Given the description of an element on the screen output the (x, y) to click on. 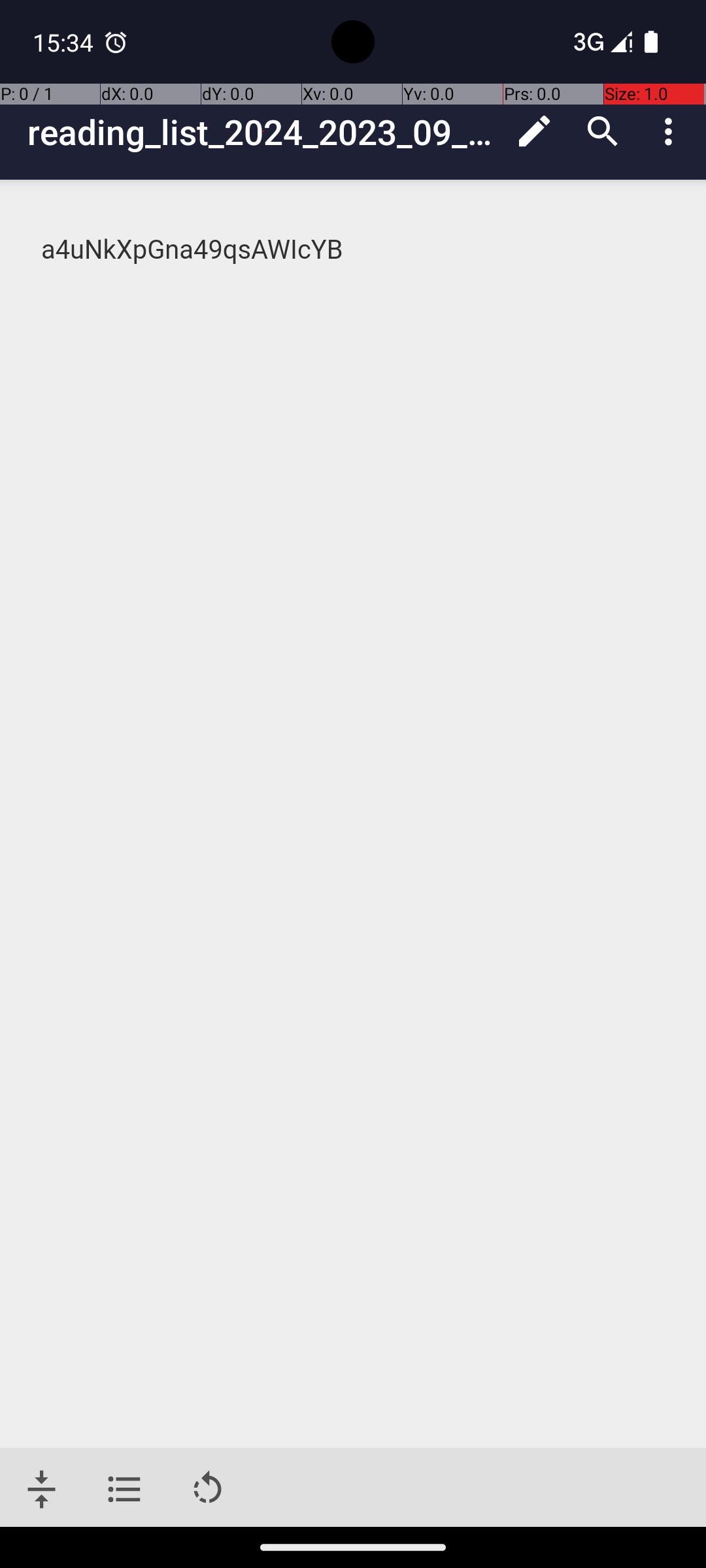
reading_list_2024_2023_09_17 Element type: android.widget.TextView (263, 131)
a4uNkXpGna49qsAWIcYB Element type: android.widget.TextView (354, 249)
